Given the description of an element on the screen output the (x, y) to click on. 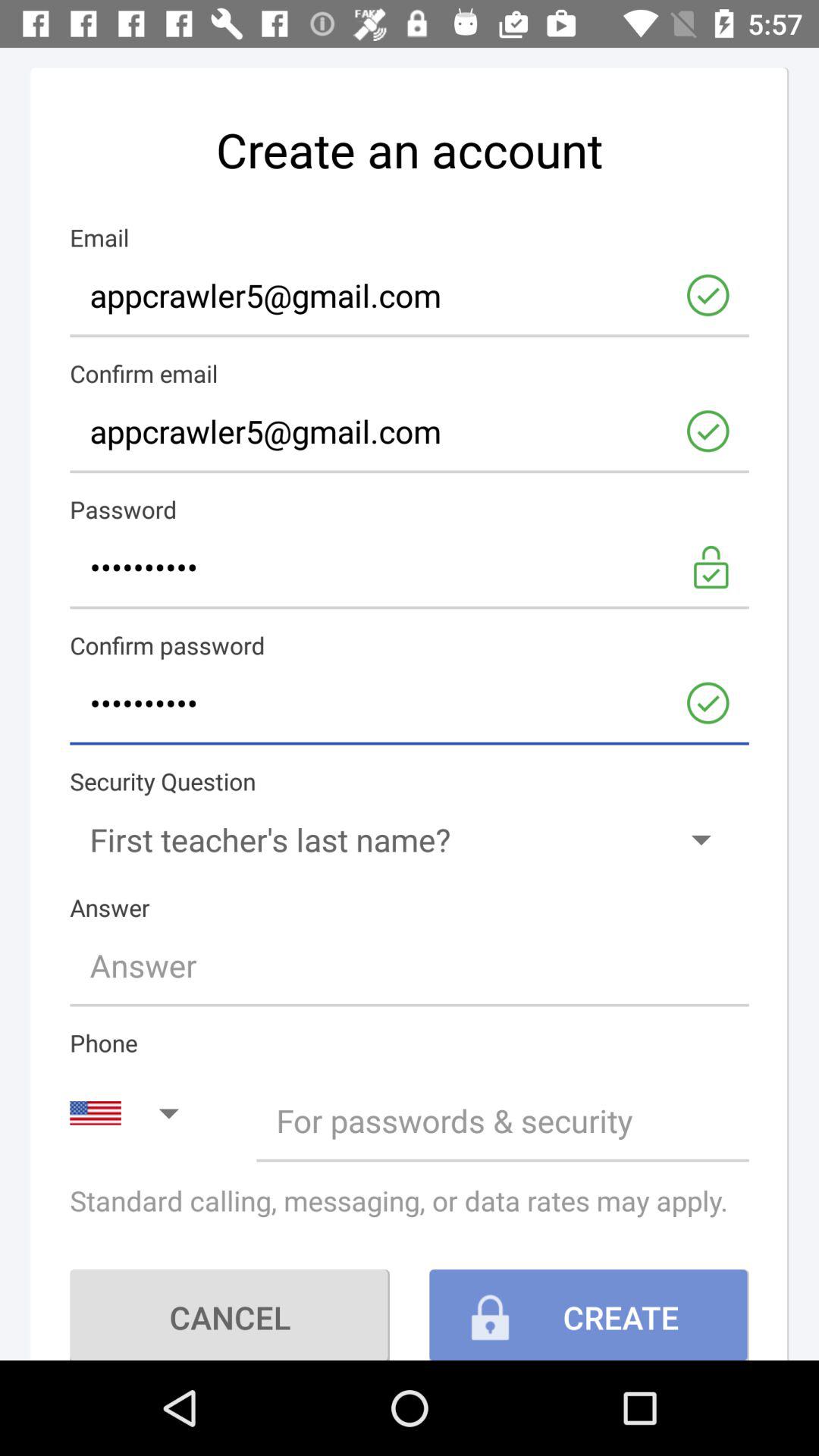
type the answer line (409, 964)
